Given the description of an element on the screen output the (x, y) to click on. 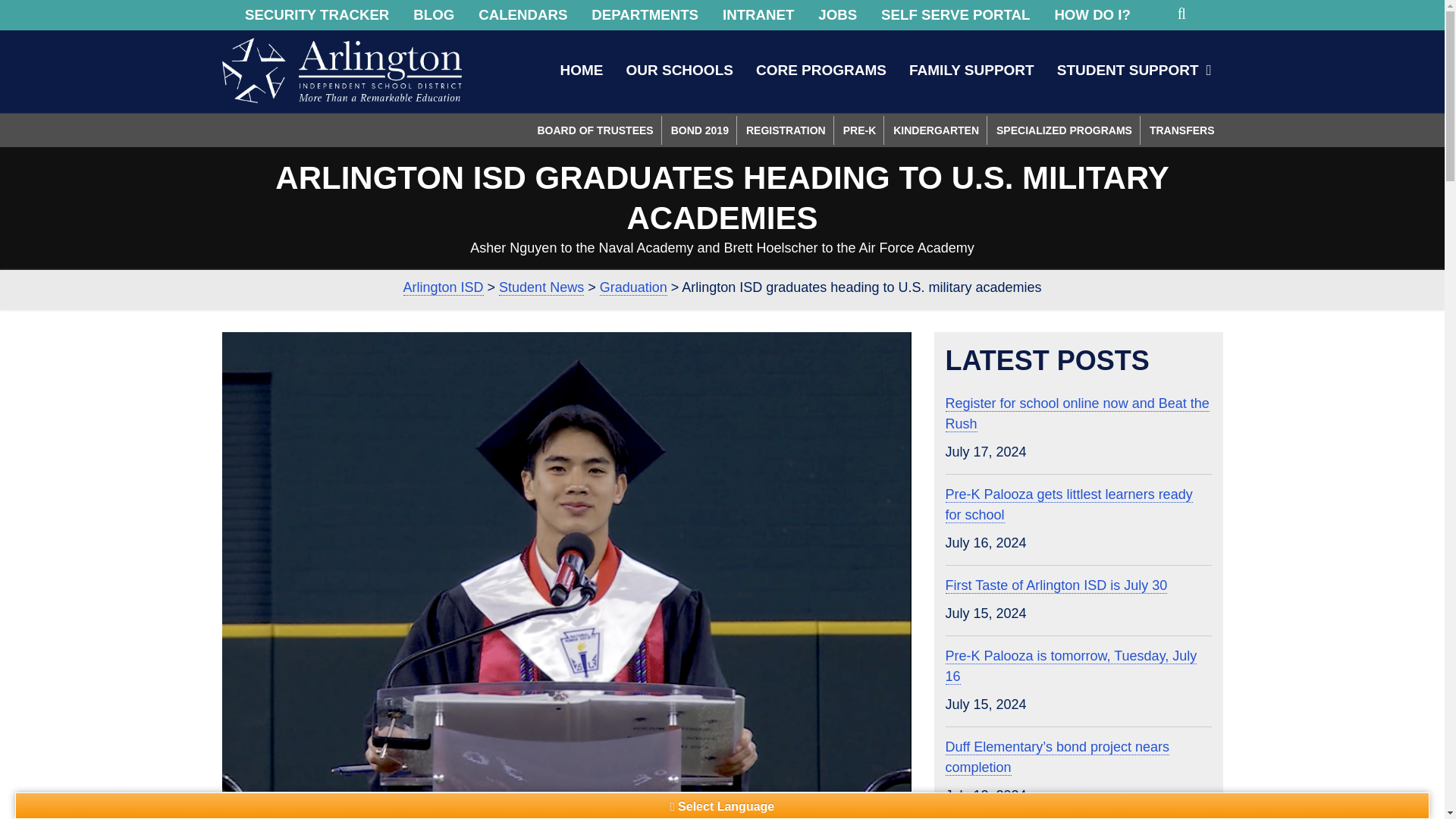
Go to Arlington ISD. (443, 287)
CALENDARS (522, 15)
Go to the Student News category archives. (541, 287)
BLOG (433, 15)
SEARCH (1182, 13)
REGISTRATION (785, 130)
CORE PROGRAMS (821, 69)
DEPARTMENTS (644, 15)
TRANSFERS (1182, 130)
Return to the Arlington Independent School District Homepage (341, 69)
PRE-K (859, 130)
HOME (581, 69)
FAMILY SUPPORT (971, 69)
HOW DO I? (1091, 15)
STUDENT SUPPORT (1134, 69)
